Given the description of an element on the screen output the (x, y) to click on. 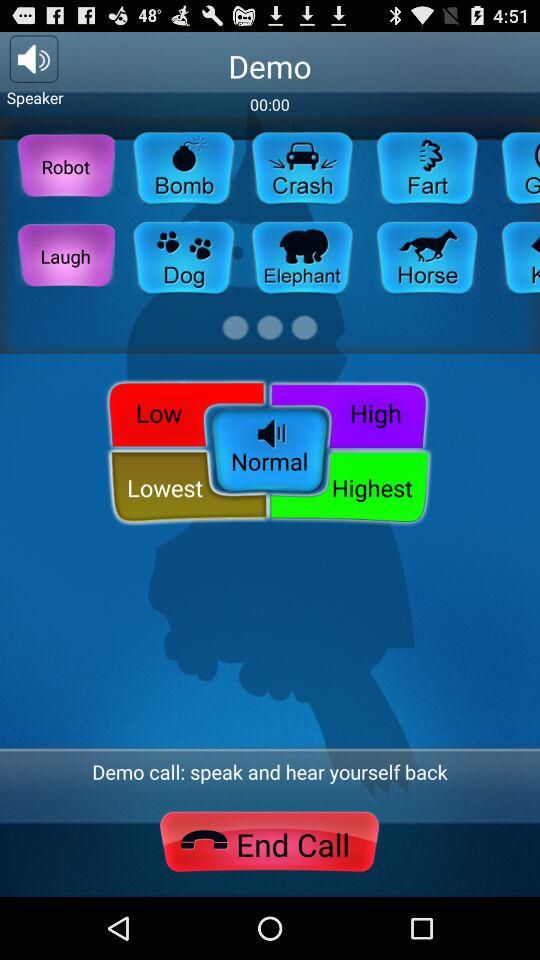
scroll to the high icon (352, 412)
